Given the description of an element on the screen output the (x, y) to click on. 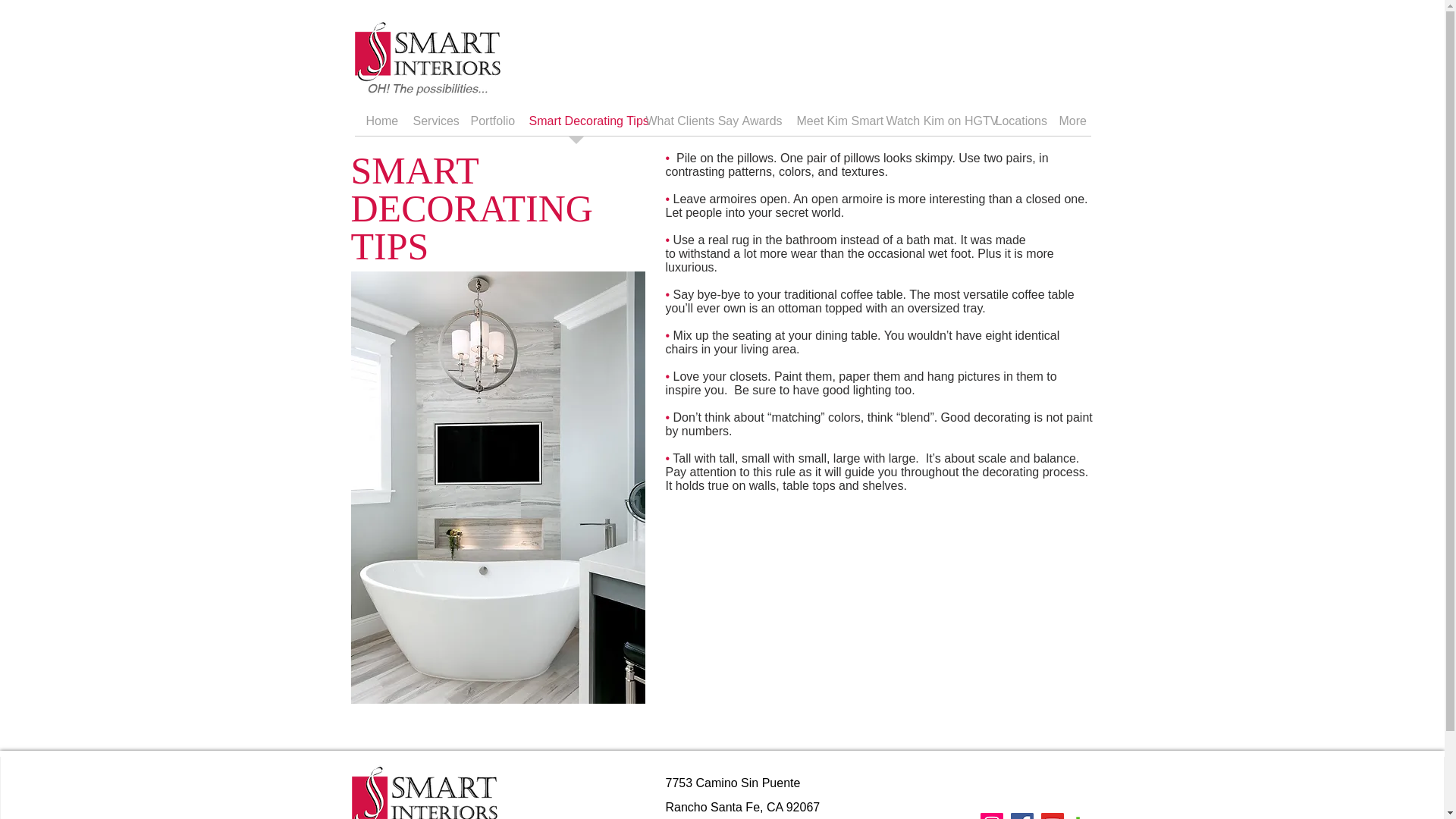
Watch Kim on HGTV (929, 125)
Smart Decorating Tips (574, 125)
Services (430, 125)
What Clients Say (681, 125)
Home (378, 125)
Awards (758, 125)
Meet Kim Smart (830, 125)
2014Logo21.png (424, 791)
2014Logo21.png (427, 59)
Portfolio (489, 125)
